Given the description of an element on the screen output the (x, y) to click on. 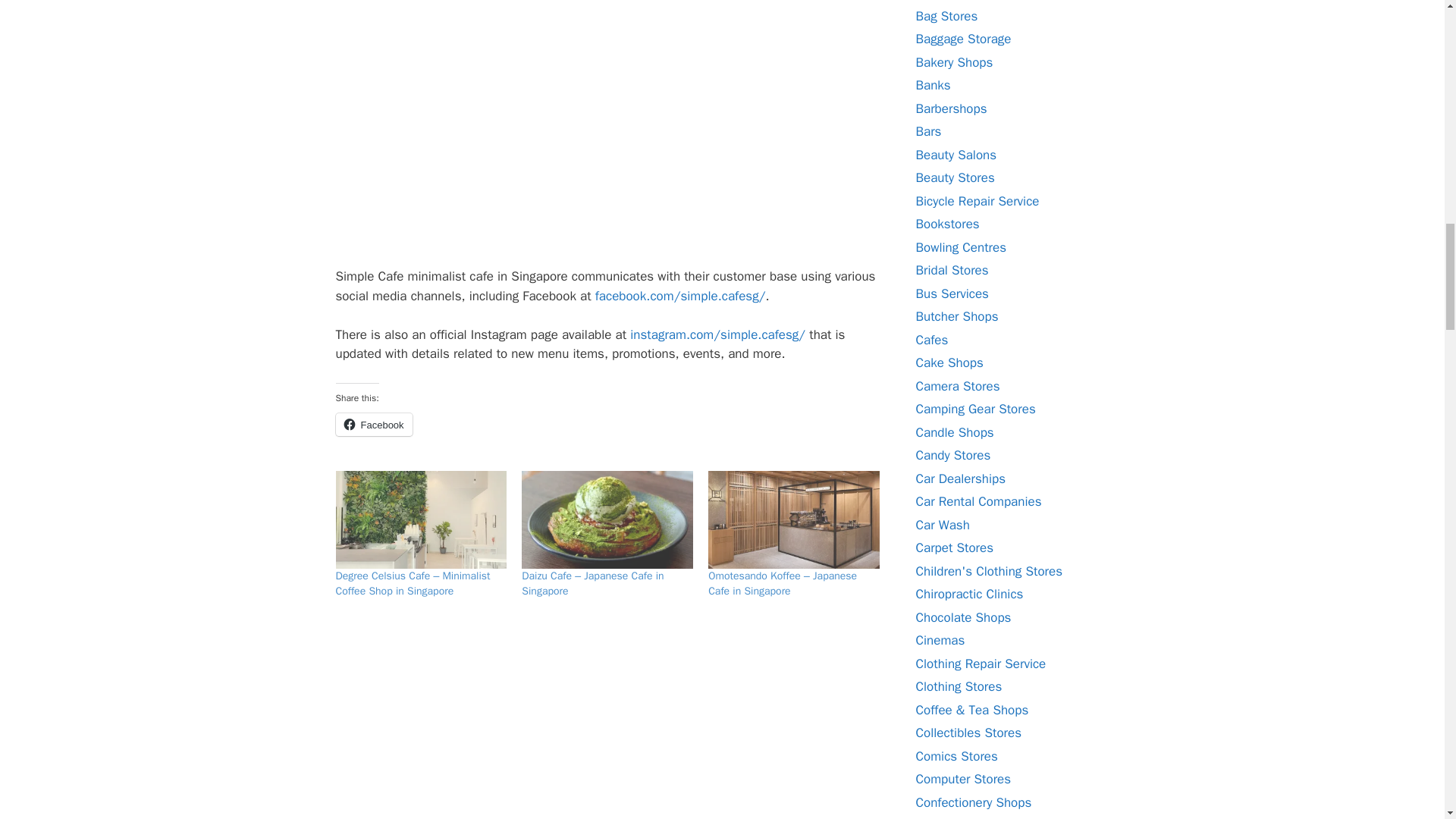
Facebook (373, 424)
Click to share on Facebook (373, 424)
